Given the description of an element on the screen output the (x, y) to click on. 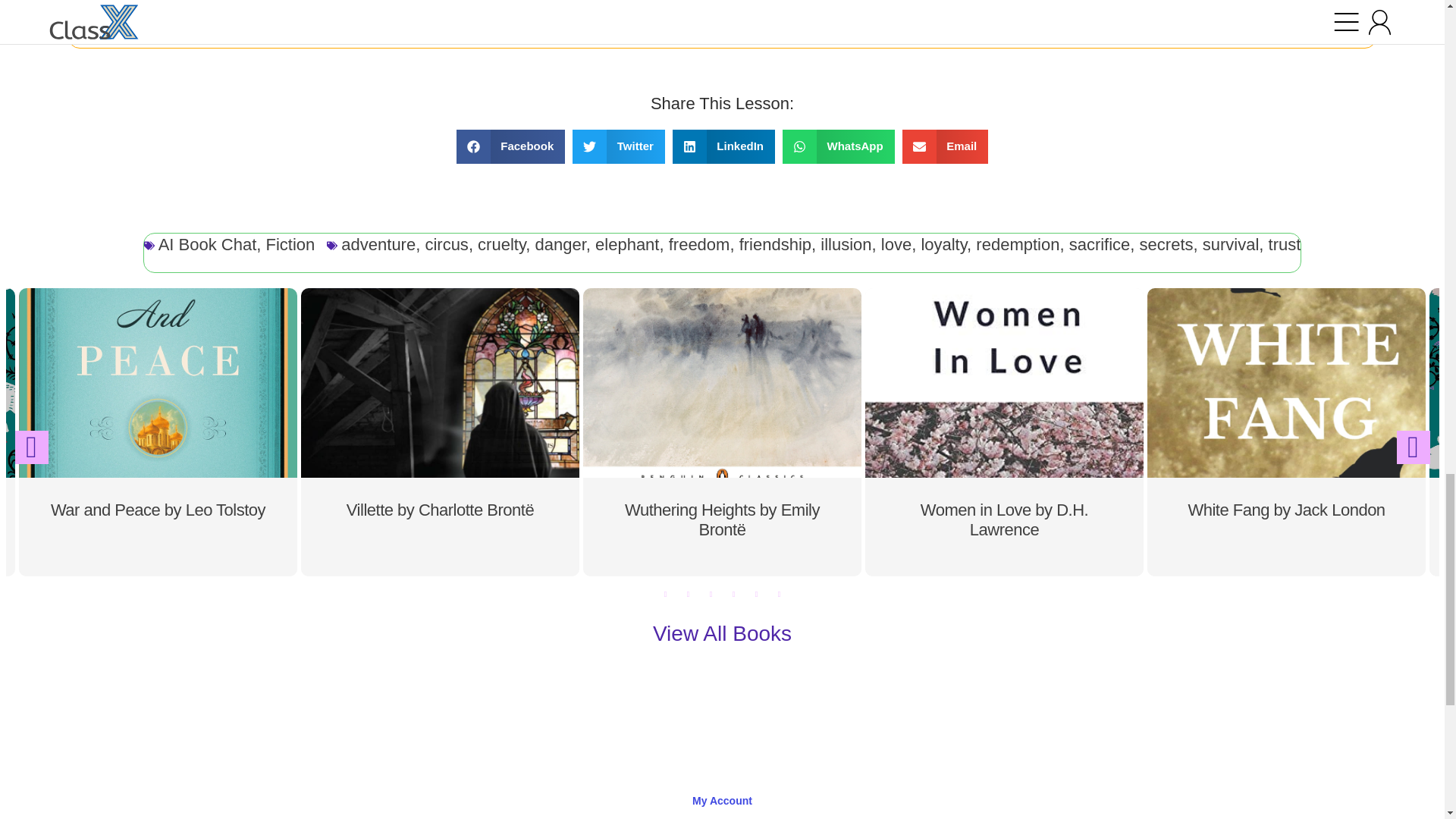
elephant (627, 244)
freedom (699, 244)
circus (446, 244)
love (895, 244)
cruelty (501, 244)
friendship (774, 244)
illusion (845, 244)
secrets (1166, 244)
AI Book Chat (207, 244)
redemption (1017, 244)
adventure (377, 244)
danger (560, 244)
survival (1230, 244)
trust (1284, 244)
sacrifice (1099, 244)
